Given the description of an element on the screen output the (x, y) to click on. 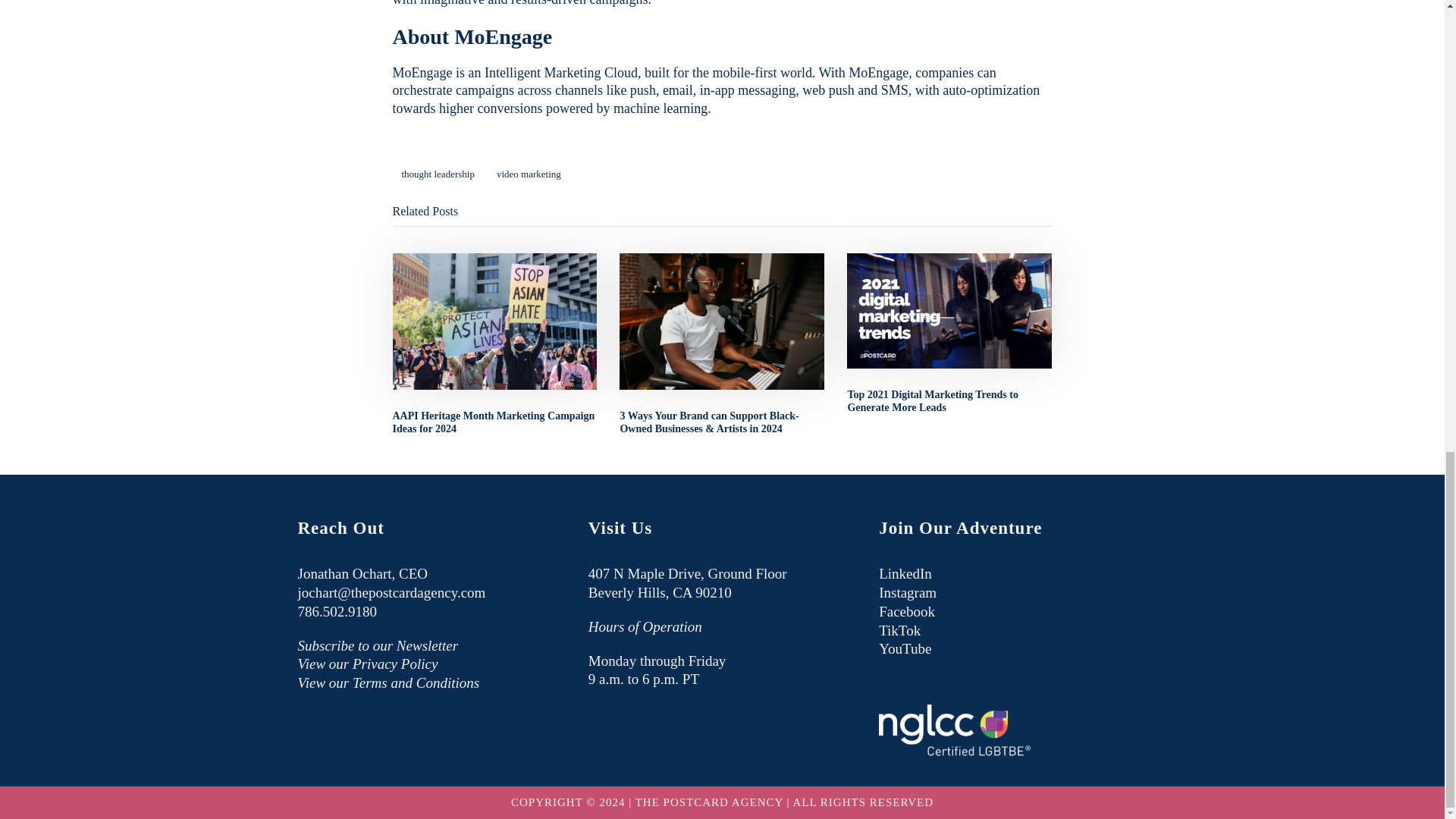
video marketing (528, 174)
thought leadership (438, 174)
